Given the description of an element on the screen output the (x, y) to click on. 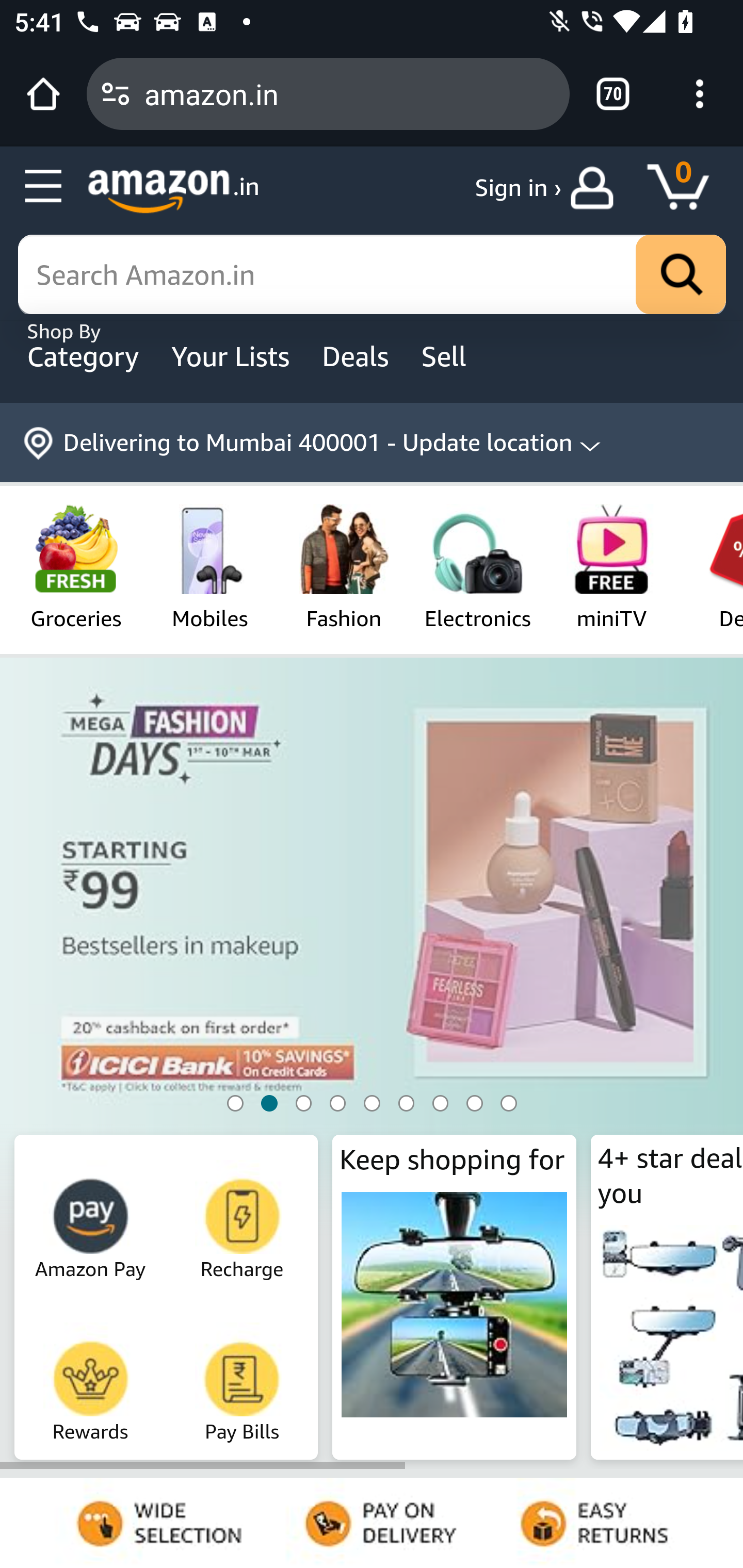
Open the home page (43, 93)
Connection is secure (115, 93)
Switch or close tabs (612, 93)
Customize and control Google Chrome (699, 93)
amazon.in (349, 92)
Open Menu (44, 187)
Sign in › (518, 188)
your account (596, 188)
Cart 0 (687, 188)
Amazon.in .in (173, 191)
Go (681, 275)
Category Shop By Category Shop By (84, 355)
Your Lists (232, 355)
Deals (358, 355)
Sell (457, 355)
Groceries Groceries Groceries Groceries (75, 566)
Mobiles Mobiles Mobiles Mobiles (209, 566)
Fashion Fashion Fashion Fashion (343, 566)
Electronics Electronics Electronics Electronics (477, 566)
miniTV miniTV miniTV miniTV (611, 566)
Mobile (371, 982)
Amazon Pay 01J2w2og5ZL._SS70_ Amazon Pay (90, 1212)
Recharge 01JrN5TPJTL._SS70_ Recharge (242, 1212)
Rewards 01K+ne++tuL._SS70_ Rewards (90, 1375)
Pay Bills 01UapGauDHL._SS70_ Pay Bills (242, 1375)
Pay on delivery (371, 1522)
